Given the description of an element on the screen output the (x, y) to click on. 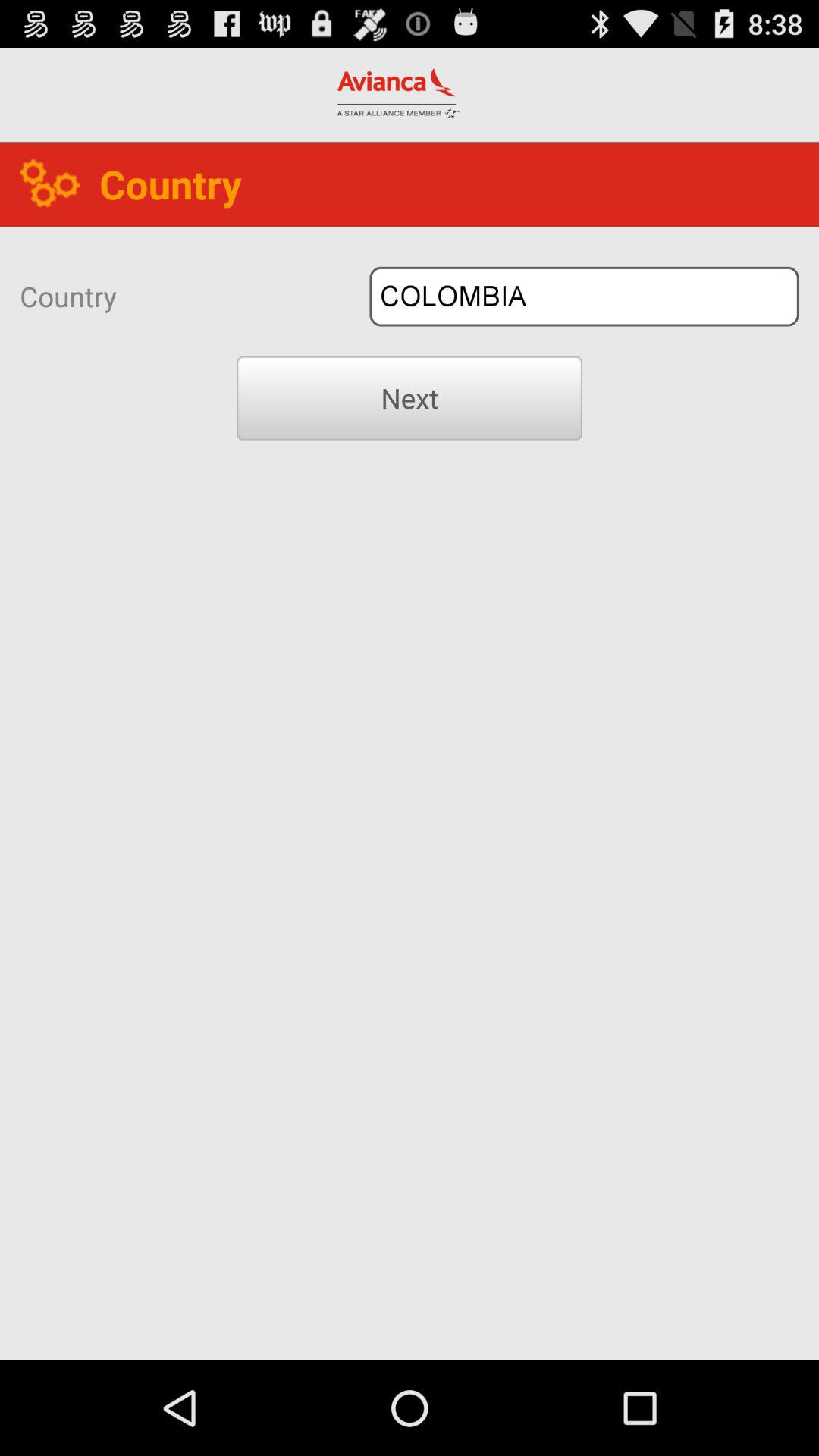
tap the icon next to the country icon (584, 296)
